Given the description of an element on the screen output the (x, y) to click on. 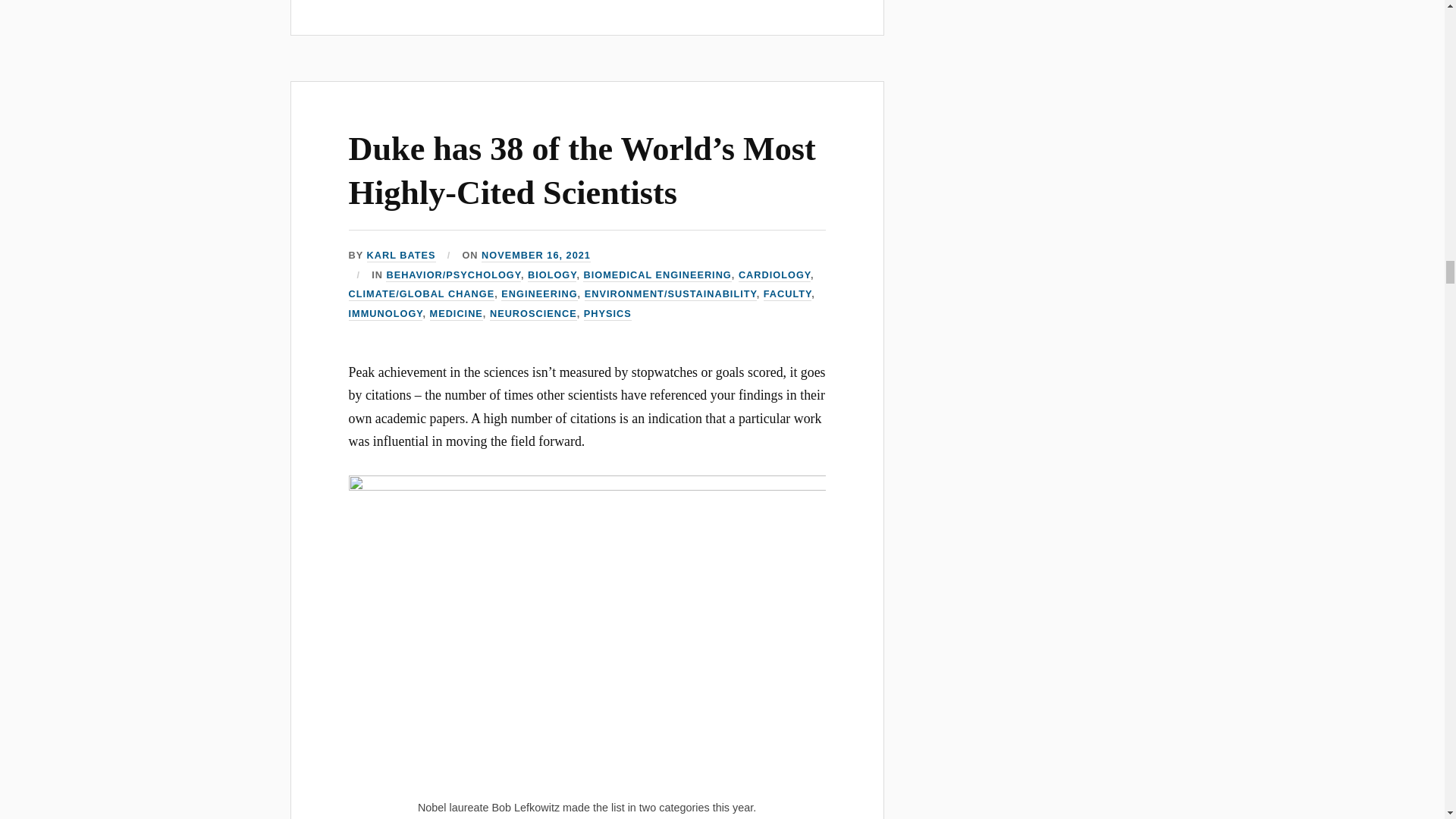
Posts by Karl Bates (400, 255)
